Given the description of an element on the screen output the (x, y) to click on. 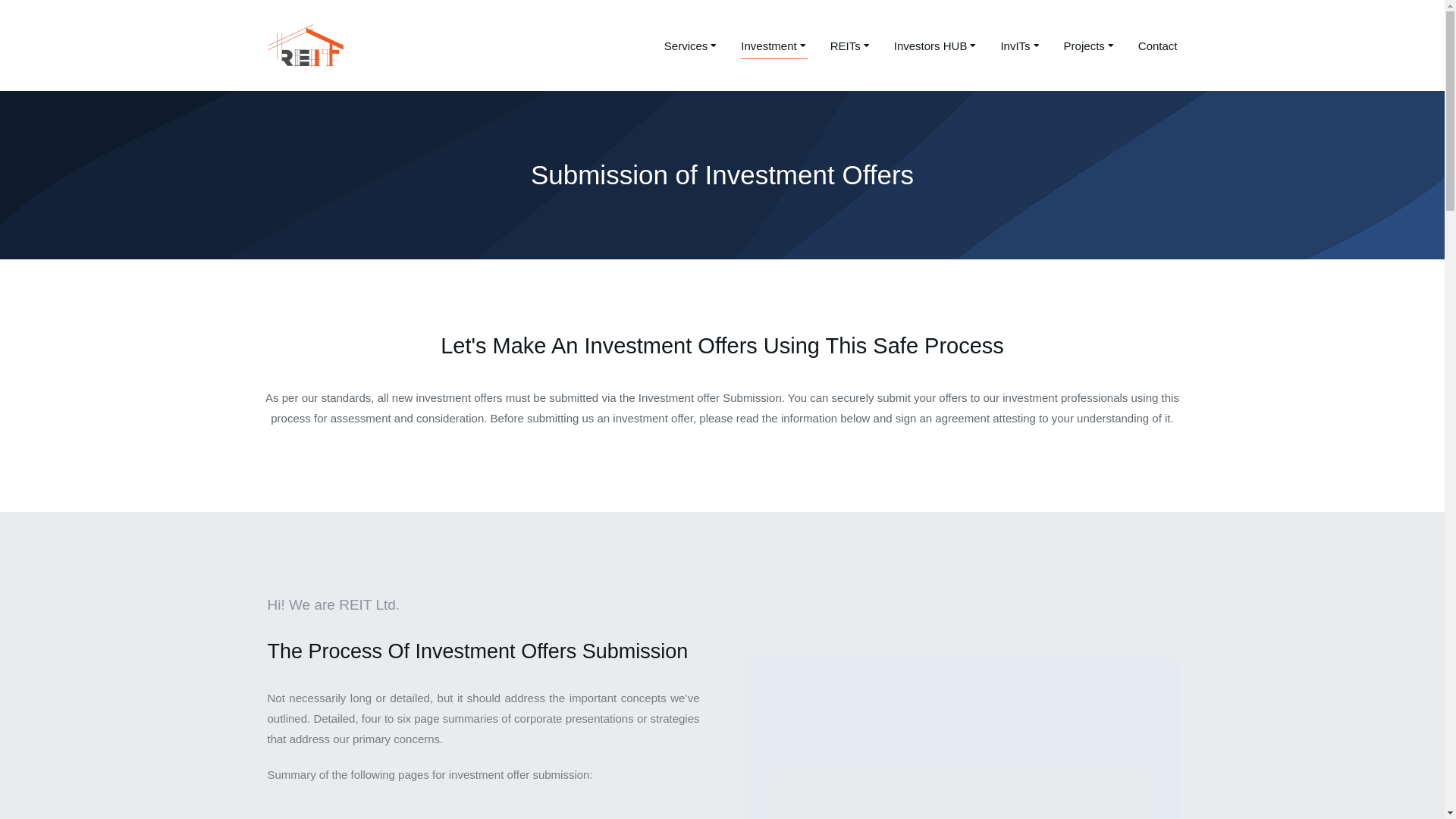
Services Element type: text (691, 44)
Investment Element type: text (773, 44)
Investors HUB Element type: text (936, 44)
Contact Element type: text (1157, 44)
REITs Element type: text (850, 44)
InvITs Element type: text (1020, 44)
Projects Element type: text (1089, 44)
